Given the description of an element on the screen output the (x, y) to click on. 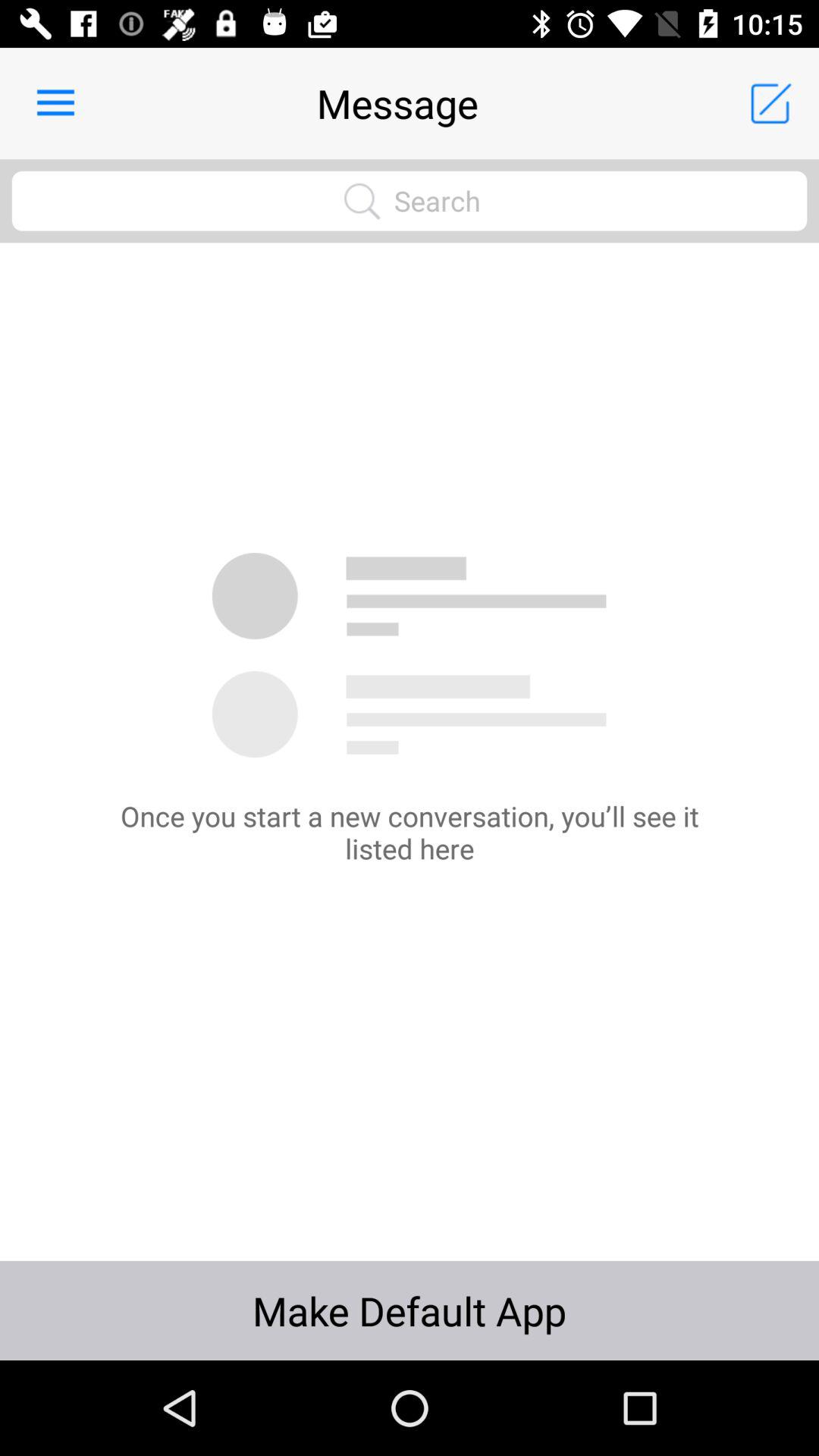
tap make default app (409, 1310)
